Given the description of an element on the screen output the (x, y) to click on. 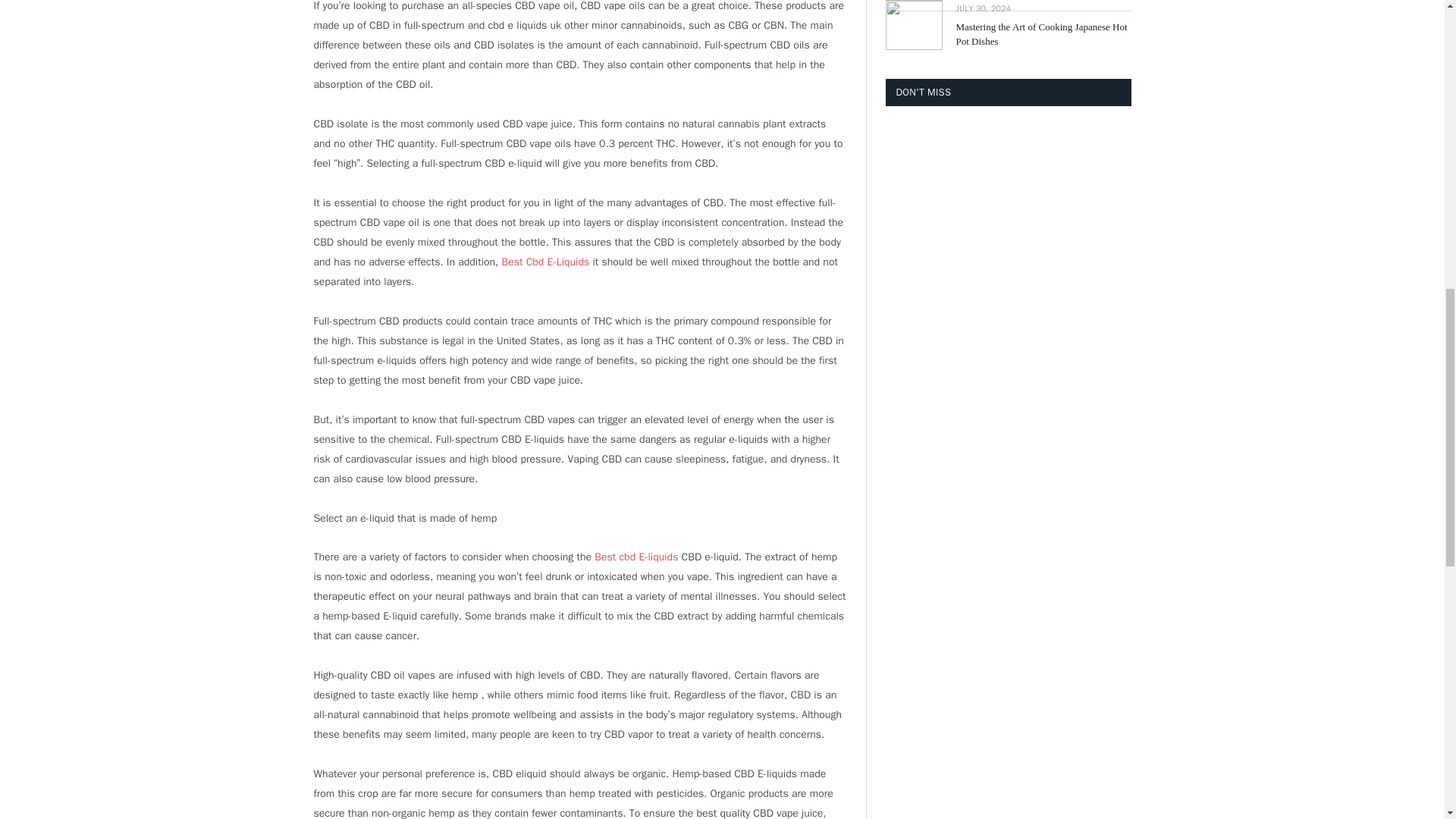
Best Cbd E-Liquids (545, 261)
Best cbd E-liquids (636, 556)
